Given the description of an element on the screen output the (x, y) to click on. 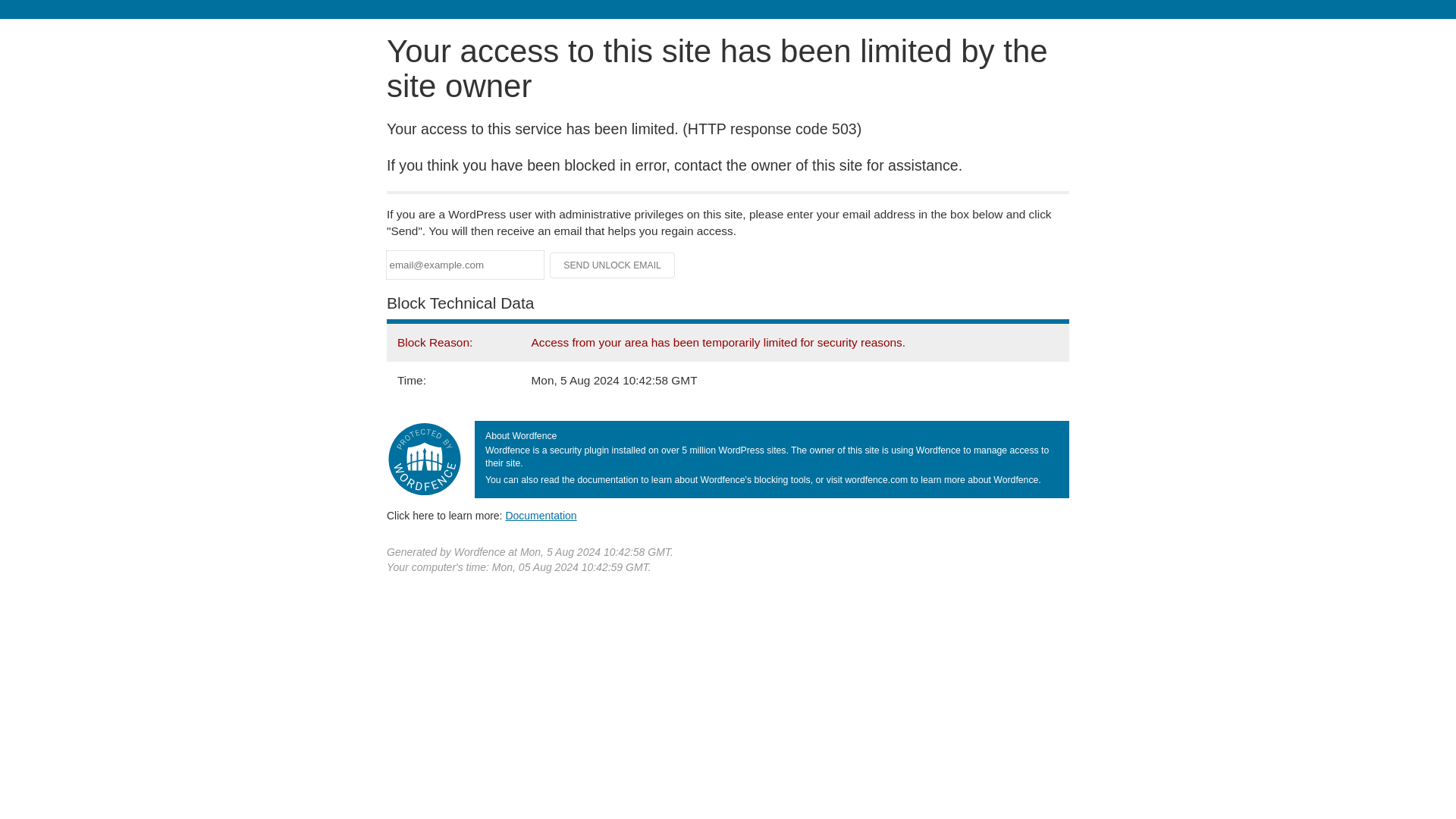
Documentation (540, 515)
Send Unlock Email (612, 265)
Send Unlock Email (612, 265)
